Given the description of an element on the screen output the (x, y) to click on. 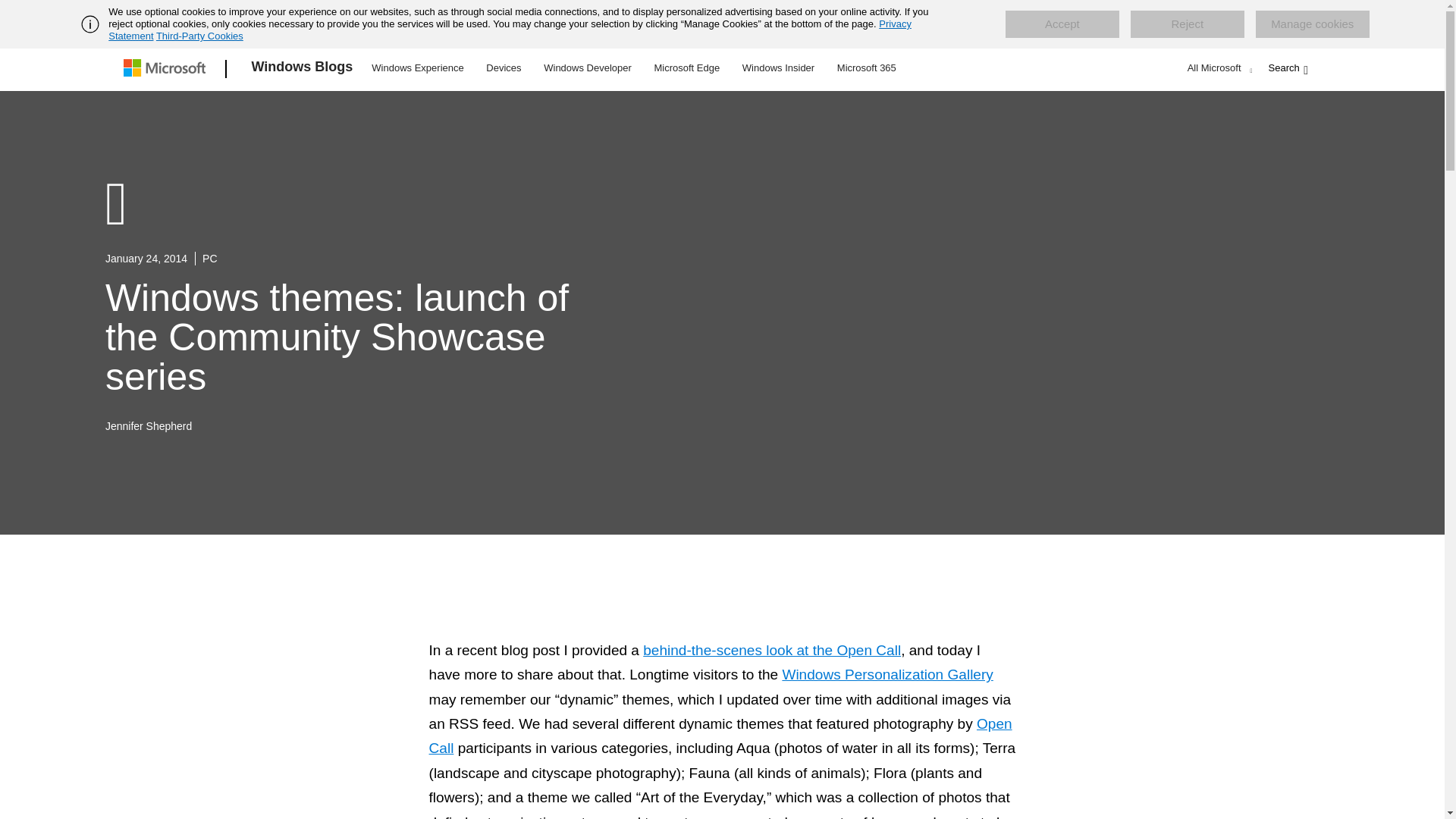
Windows Insider (778, 67)
Third-Party Cookies (199, 35)
All Microsoft (1217, 67)
Windows Blogs (302, 69)
Windows Developer (588, 67)
Devices (503, 67)
Microsoft (167, 69)
Manage cookies (1312, 23)
Windows Experience (417, 67)
Microsoft Edge (686, 67)
Accept (1062, 23)
Privacy Statement (509, 29)
Microsoft 365 (865, 67)
Reject (1187, 23)
